Given the description of an element on the screen output the (x, y) to click on. 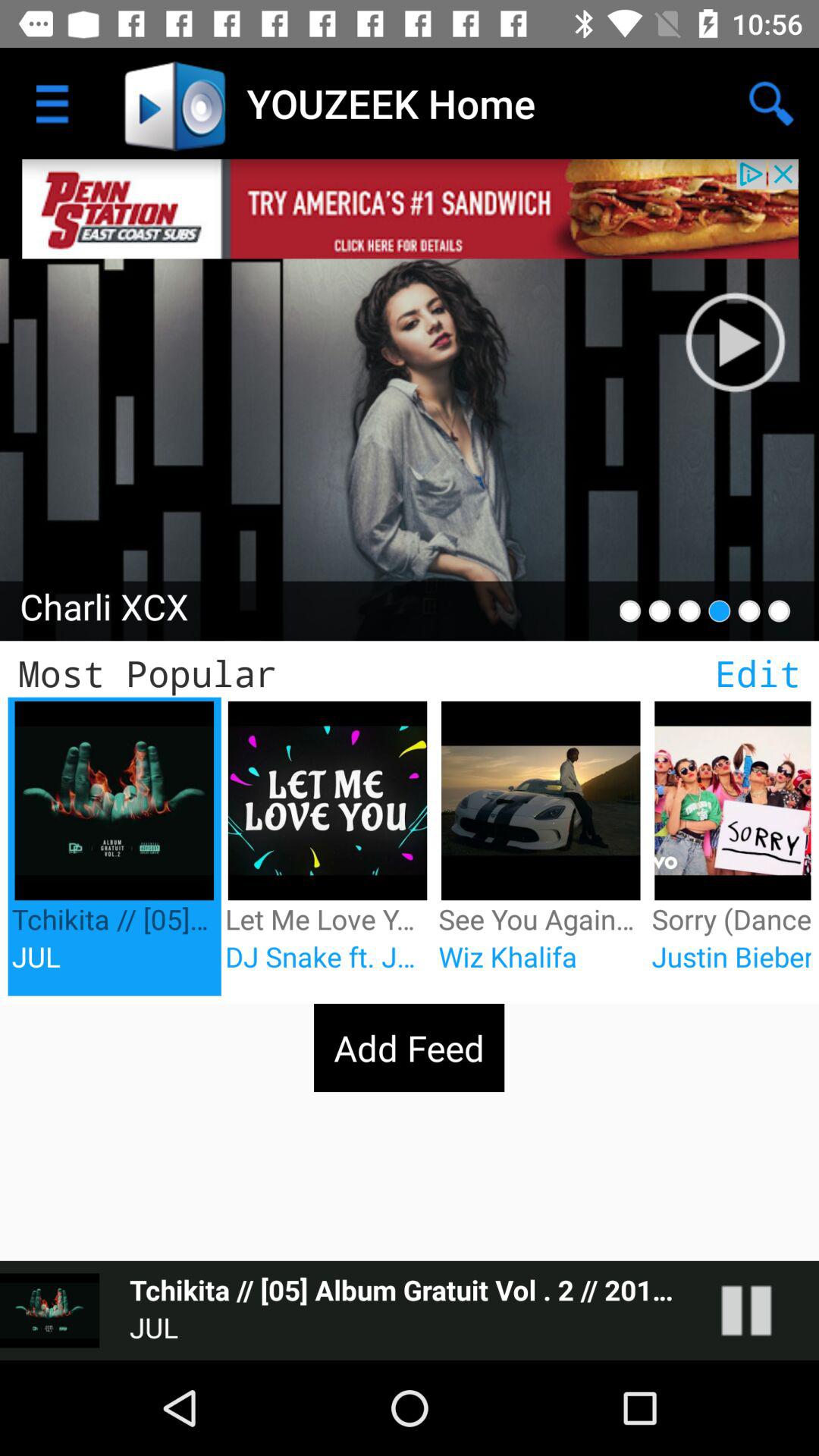
click pause button (751, 326)
